Given the description of an element on the screen output the (x, y) to click on. 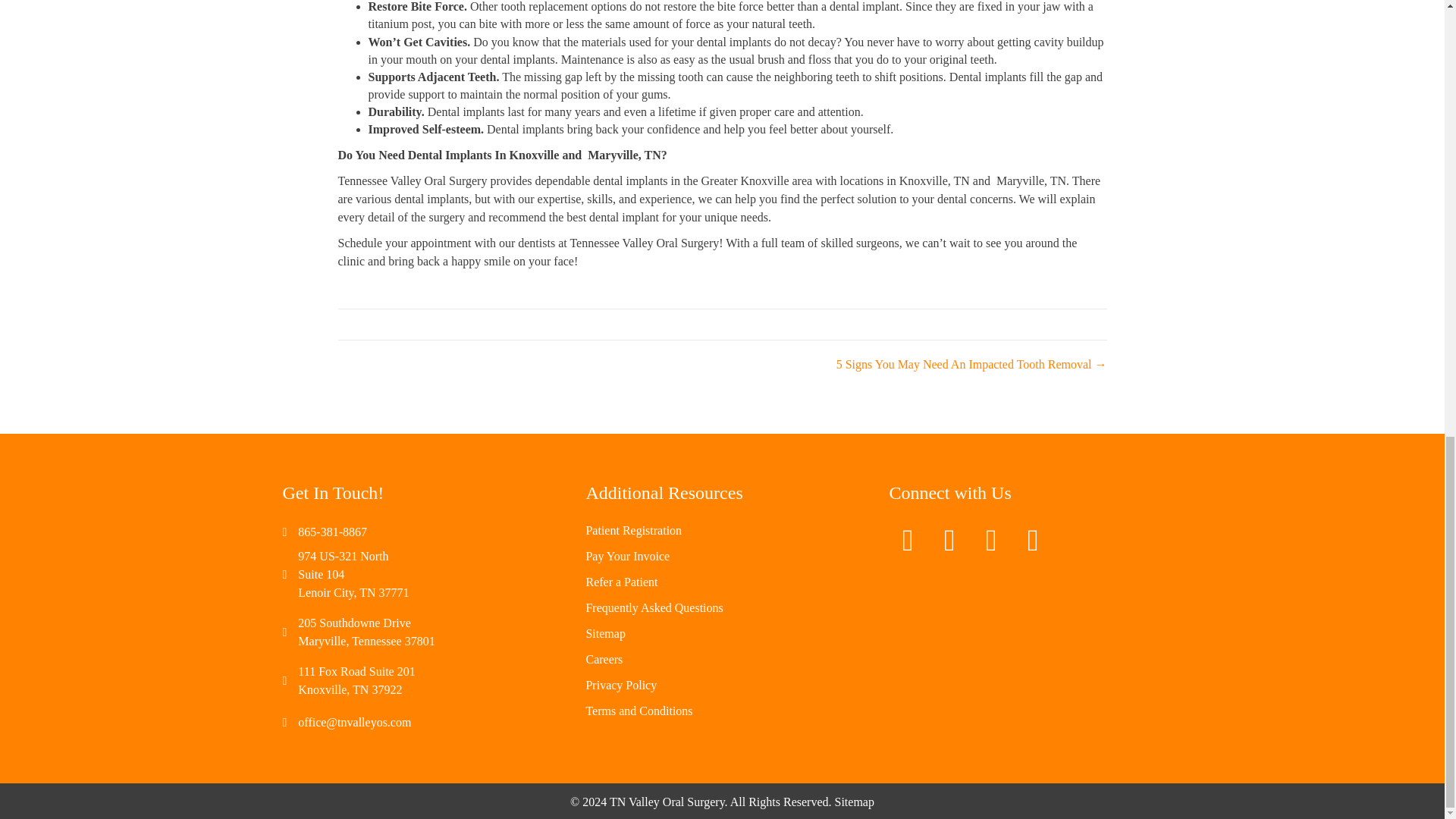
Instagram (991, 540)
TikTok (1032, 540)
YouTube (907, 540)
865-381-8867 (332, 531)
Facebook (949, 540)
